Given the description of an element on the screen output the (x, y) to click on. 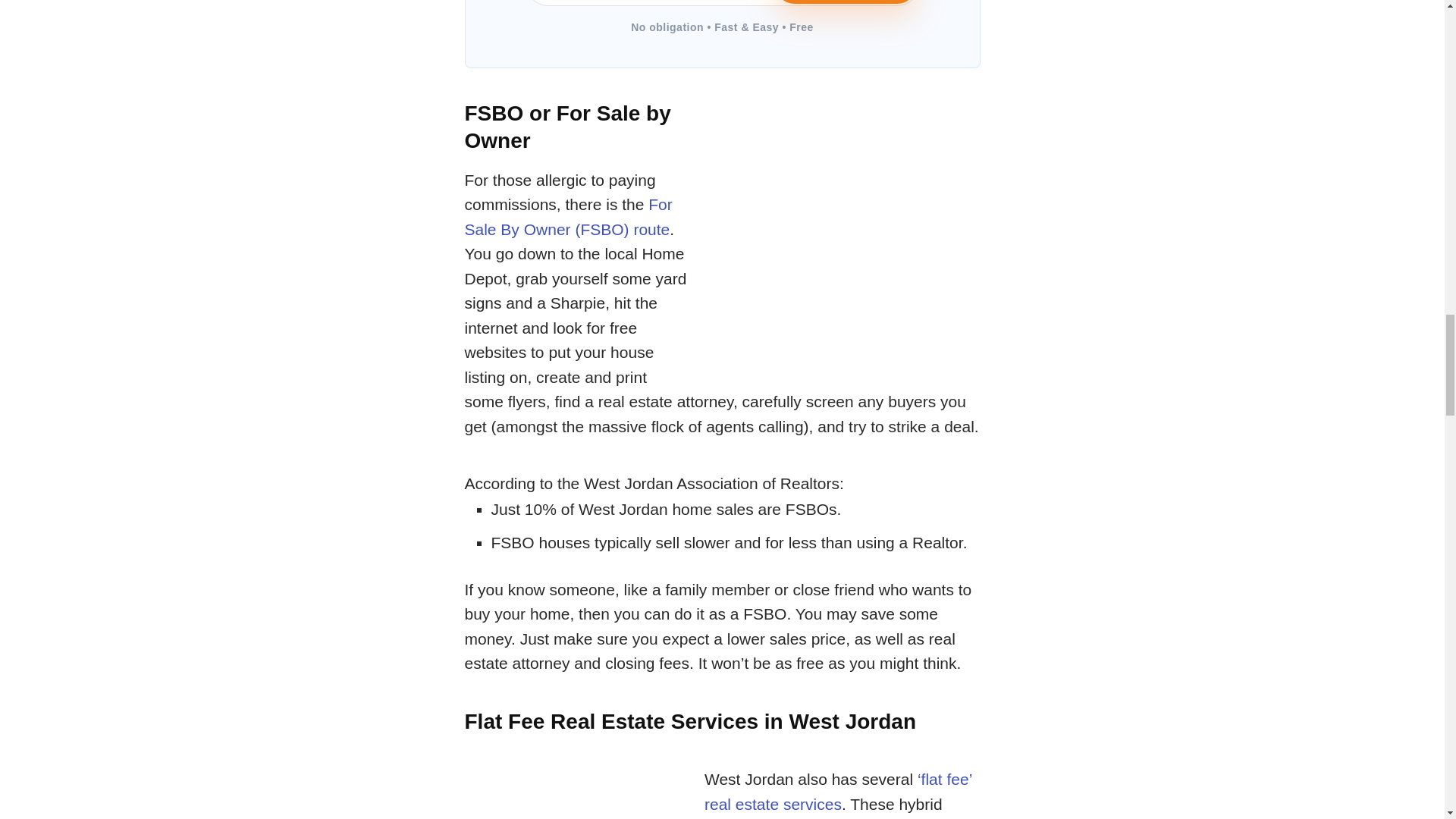
Enter your city and state or type in your ZIP code (721, 2)
Get Started (845, 2)
Get Started (845, 2)
